Given the description of an element on the screen output the (x, y) to click on. 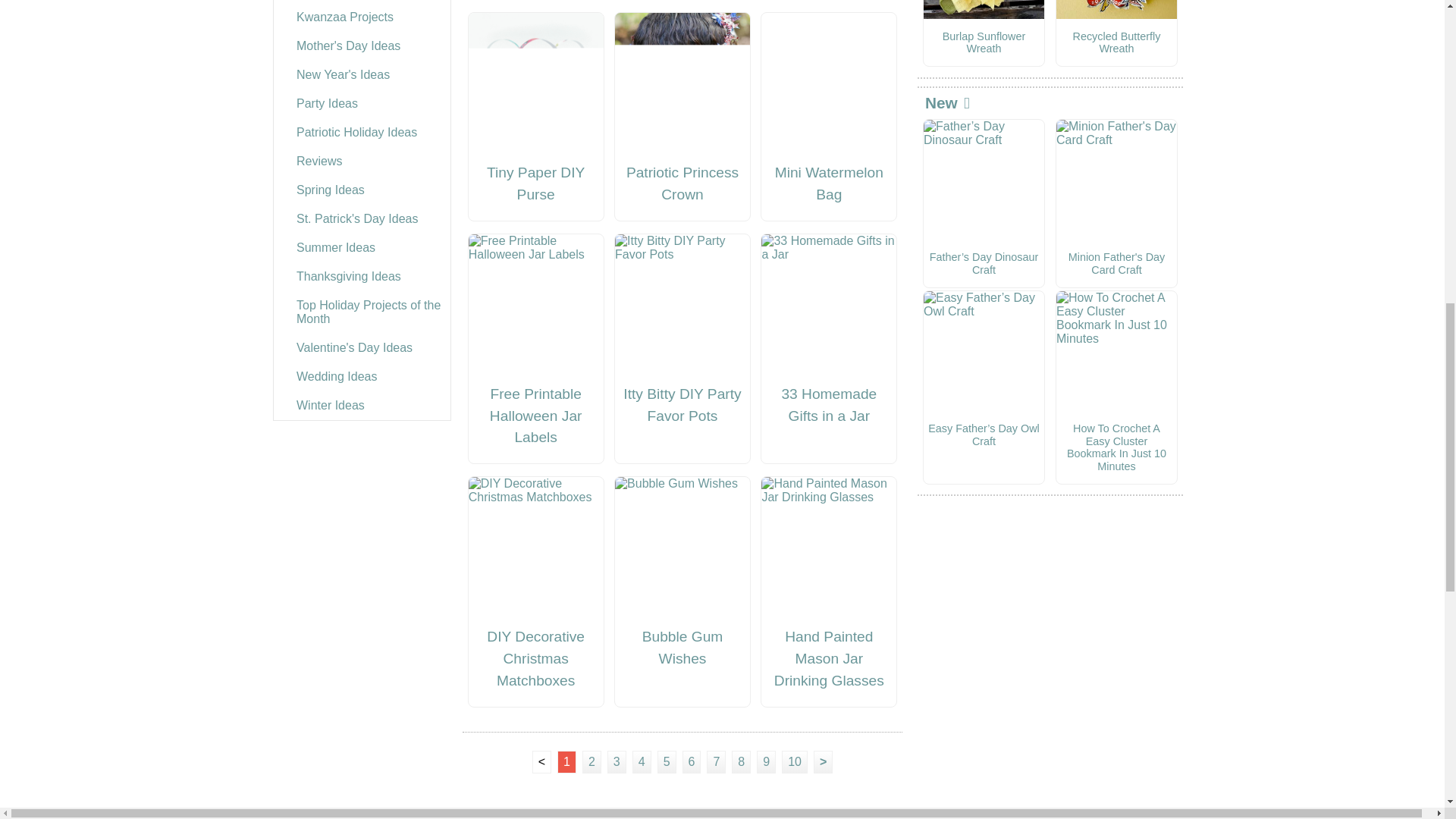
Go to Page 3 (616, 761)
Go to Page 2 (591, 761)
